Given the description of an element on the screen output the (x, y) to click on. 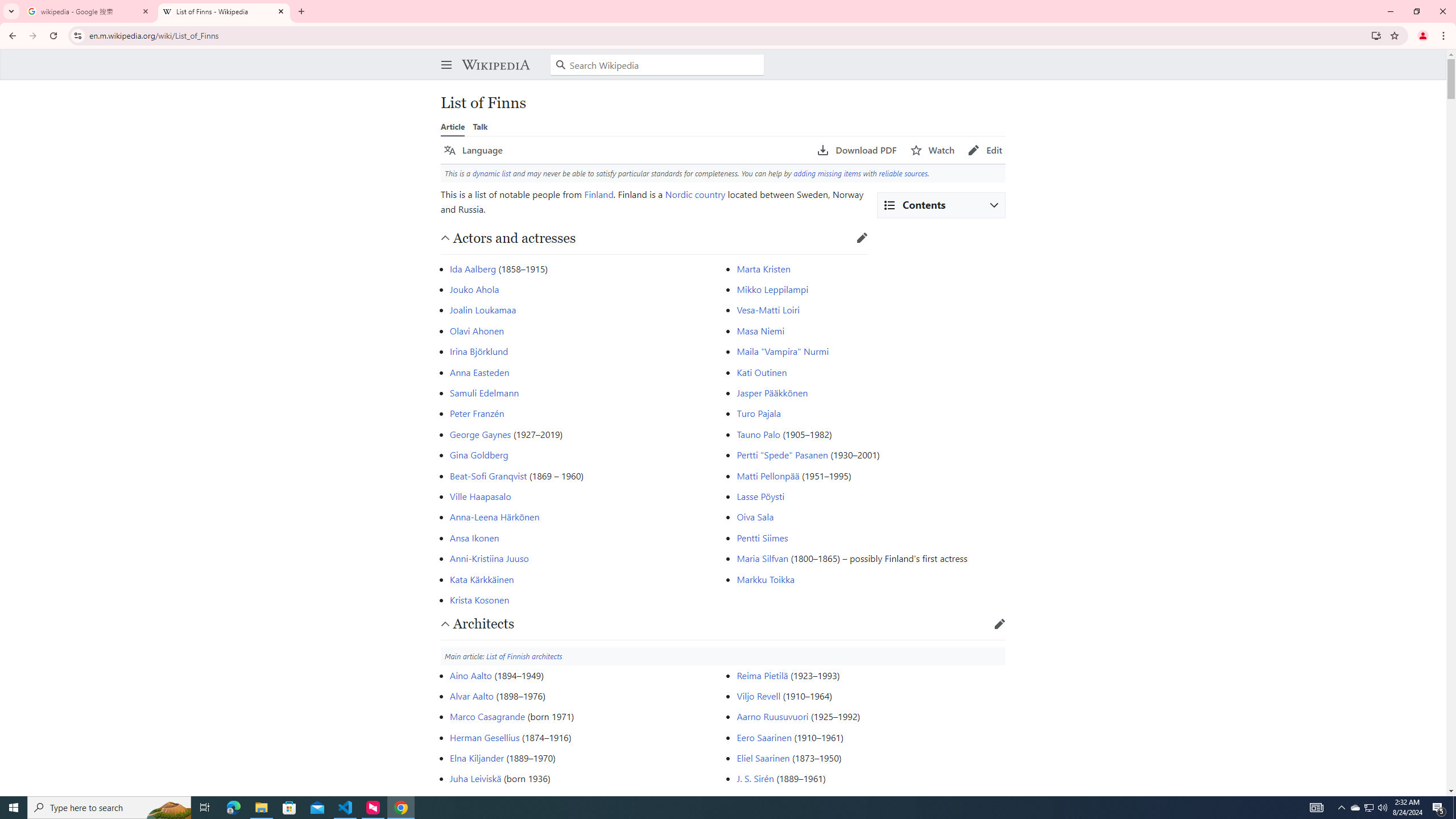
Markku Toikka (765, 578)
Install Wikipedia (1376, 35)
edit (1000, 623)
dynamic list (491, 173)
adding missing items (826, 173)
reliable sources (903, 173)
Search Wikipedia (657, 64)
Gina Goldberg (478, 454)
